Given the description of an element on the screen output the (x, y) to click on. 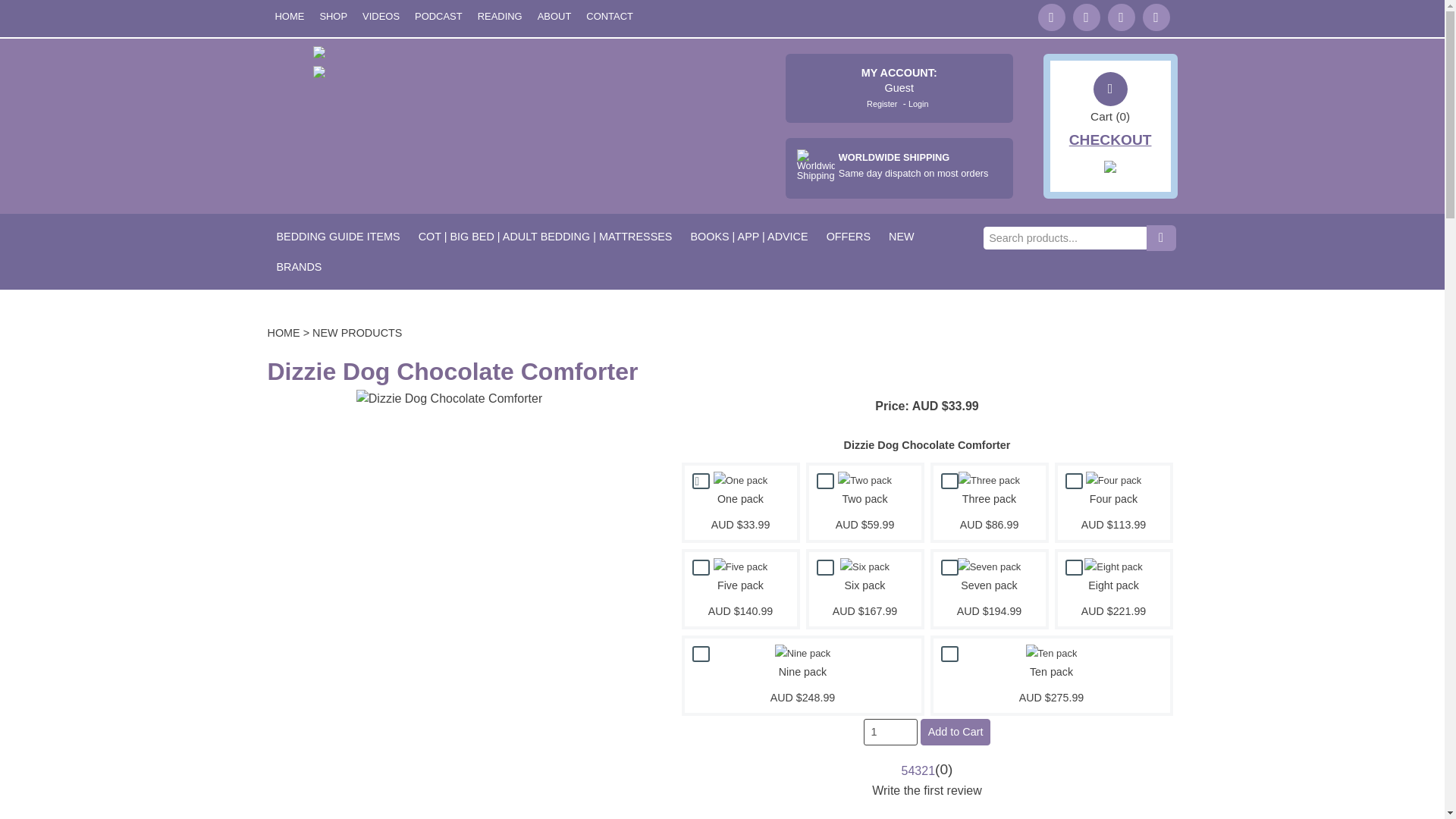
129751 (949, 480)
Twitter (1050, 17)
129756 (1073, 567)
HOME (288, 16)
Six pack (864, 566)
 Eight pack (1112, 566)
Instagram (1155, 17)
129750 (824, 480)
Five pack (740, 566)
SHOP (333, 16)
129758 (949, 653)
Seven pack (990, 566)
BEDDING GUIDE ITEMS (337, 236)
Add to Cart (955, 732)
YouTube (1120, 17)
